Given the description of an element on the screen output the (x, y) to click on. 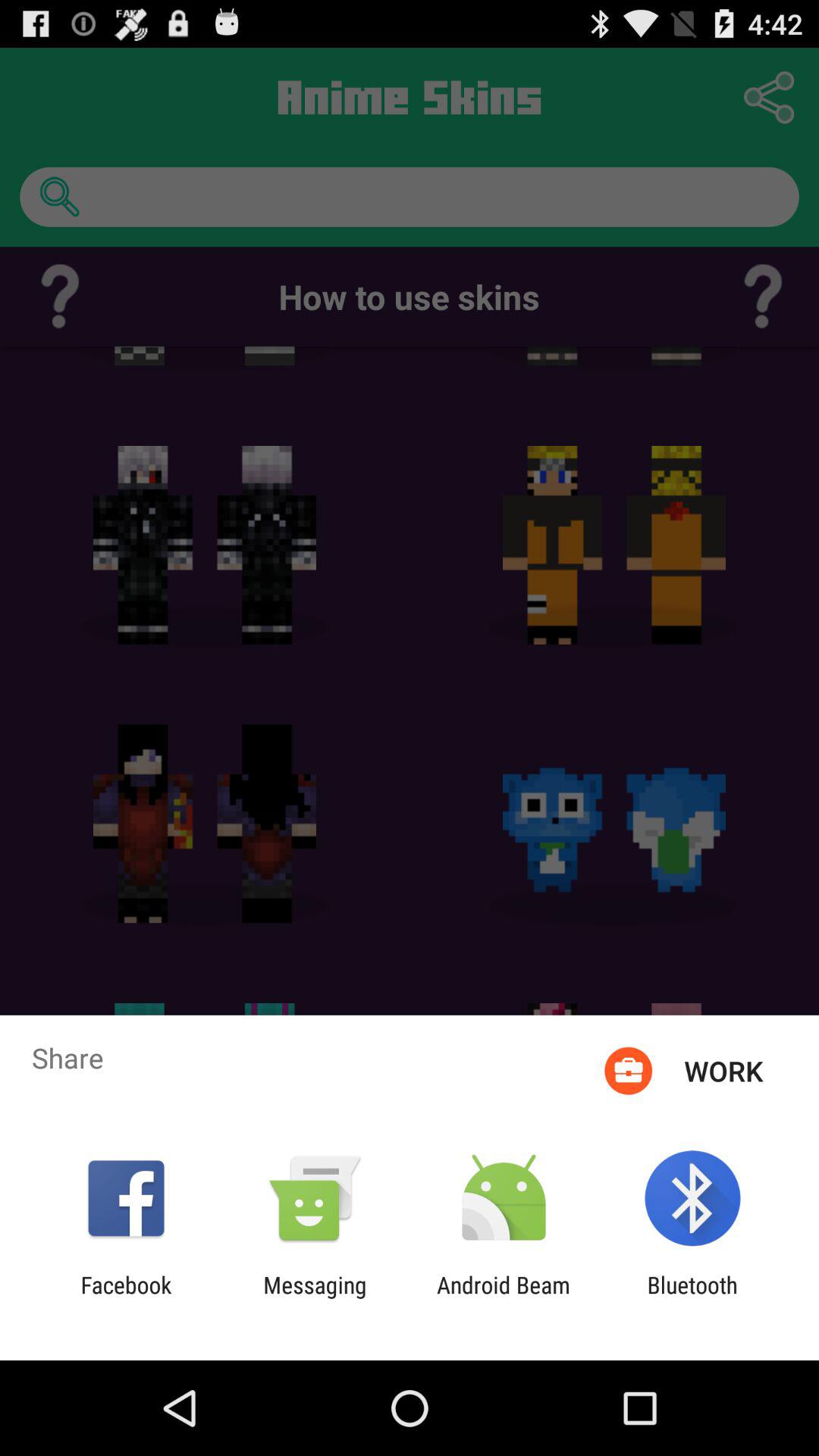
press the android beam (503, 1298)
